Given the description of an element on the screen output the (x, y) to click on. 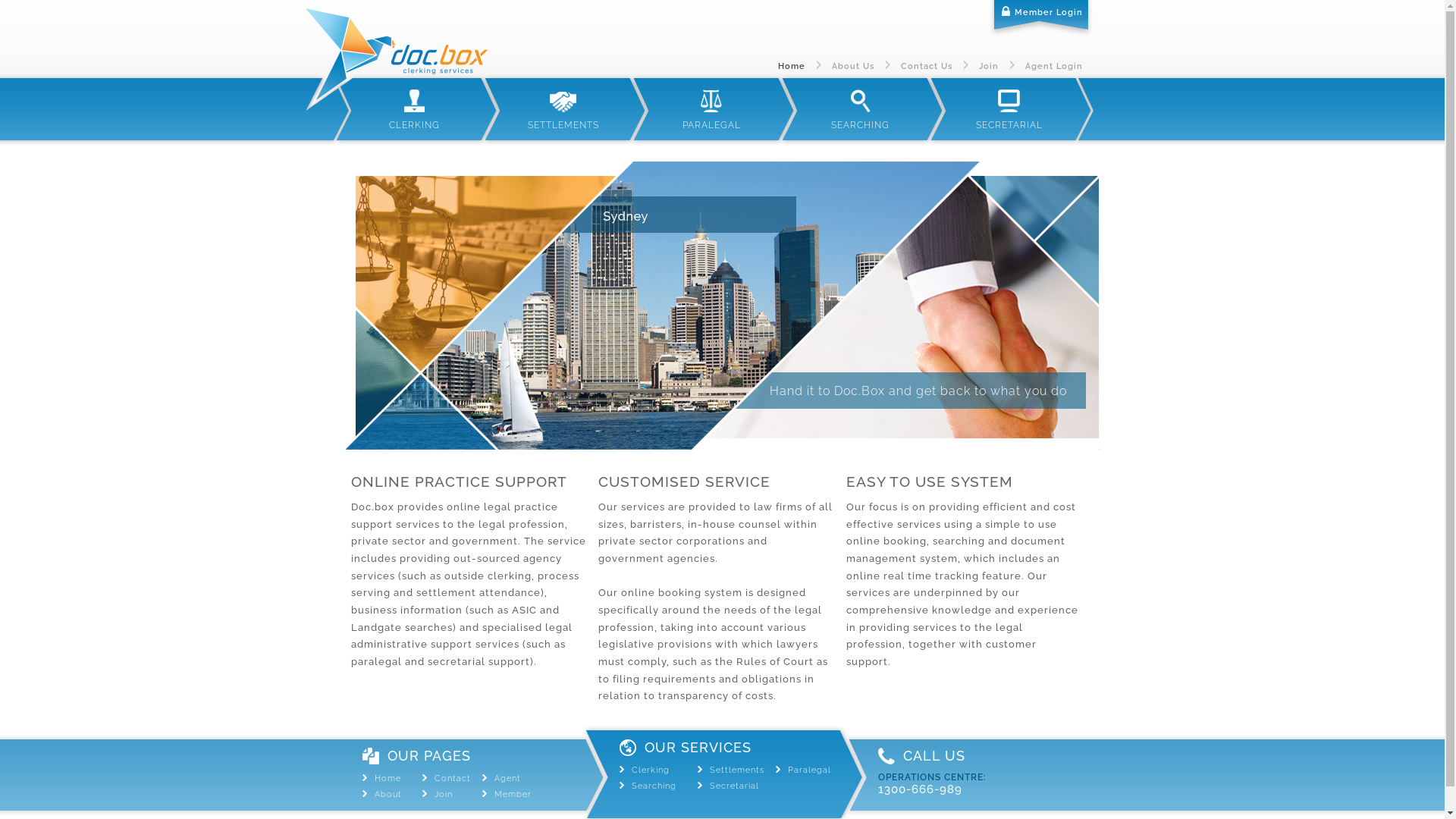
About Us Element type: text (852, 65)
Contact Us Element type: text (926, 65)
Searching Element type: text (652, 785)
Contact Element type: text (452, 777)
Member Element type: text (512, 793)
Clerking Element type: text (649, 769)
Member Login Element type: text (1040, 20)
Agent Login Element type: text (1053, 65)
Secretarial Element type: text (734, 785)
Settlements Element type: text (736, 769)
Agent Element type: text (507, 777)
Join Element type: text (987, 65)
Home Element type: text (387, 777)
SEARCHING Element type: text (859, 109)
Paralegal Element type: text (809, 769)
About Element type: text (387, 793)
Doc.Box Element type: hover (395, 58)
Home Element type: text (791, 65)
SETTLEMENTS Element type: text (562, 109)
CLERKING Element type: text (413, 109)
SECRETARIAL Element type: text (1008, 109)
Join Element type: text (443, 793)
PARALEGAL Element type: text (711, 109)
